Given the description of an element on the screen output the (x, y) to click on. 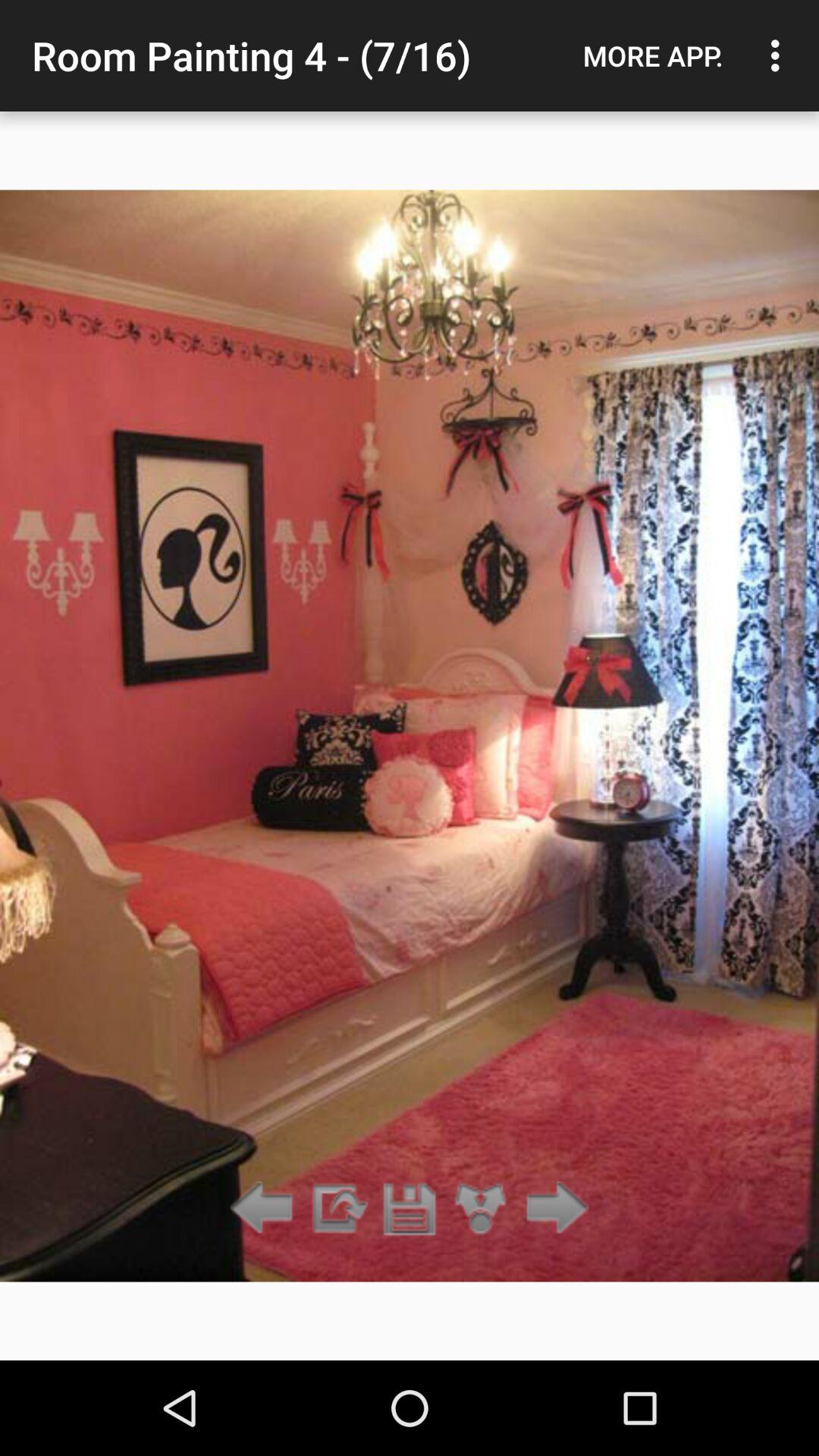
choose app below the room painting 4 (337, 1208)
